Given the description of an element on the screen output the (x, y) to click on. 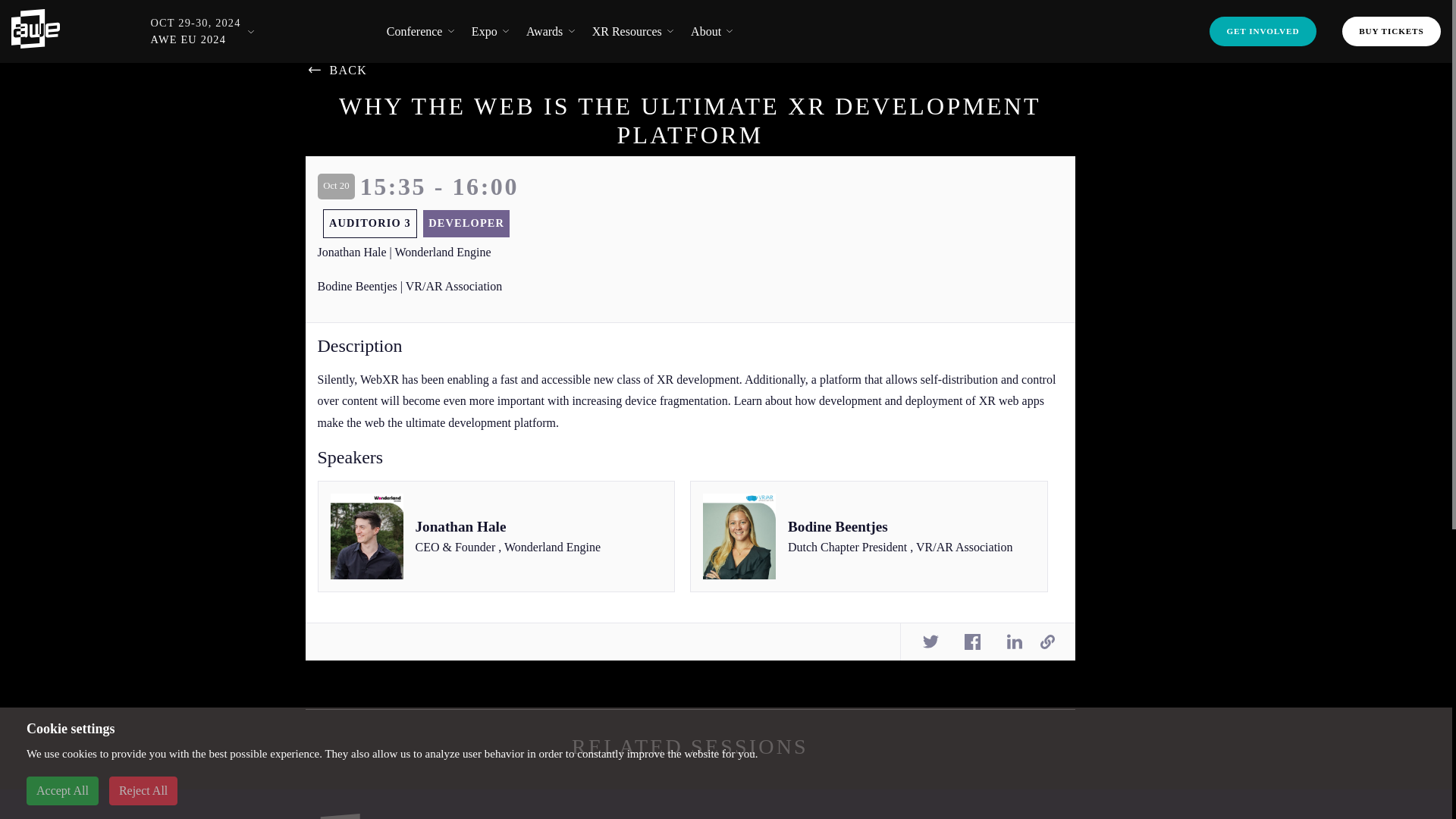
BUY TICKETS (1391, 30)
GET INVOLVED (1262, 30)
